Given the description of an element on the screen output the (x, y) to click on. 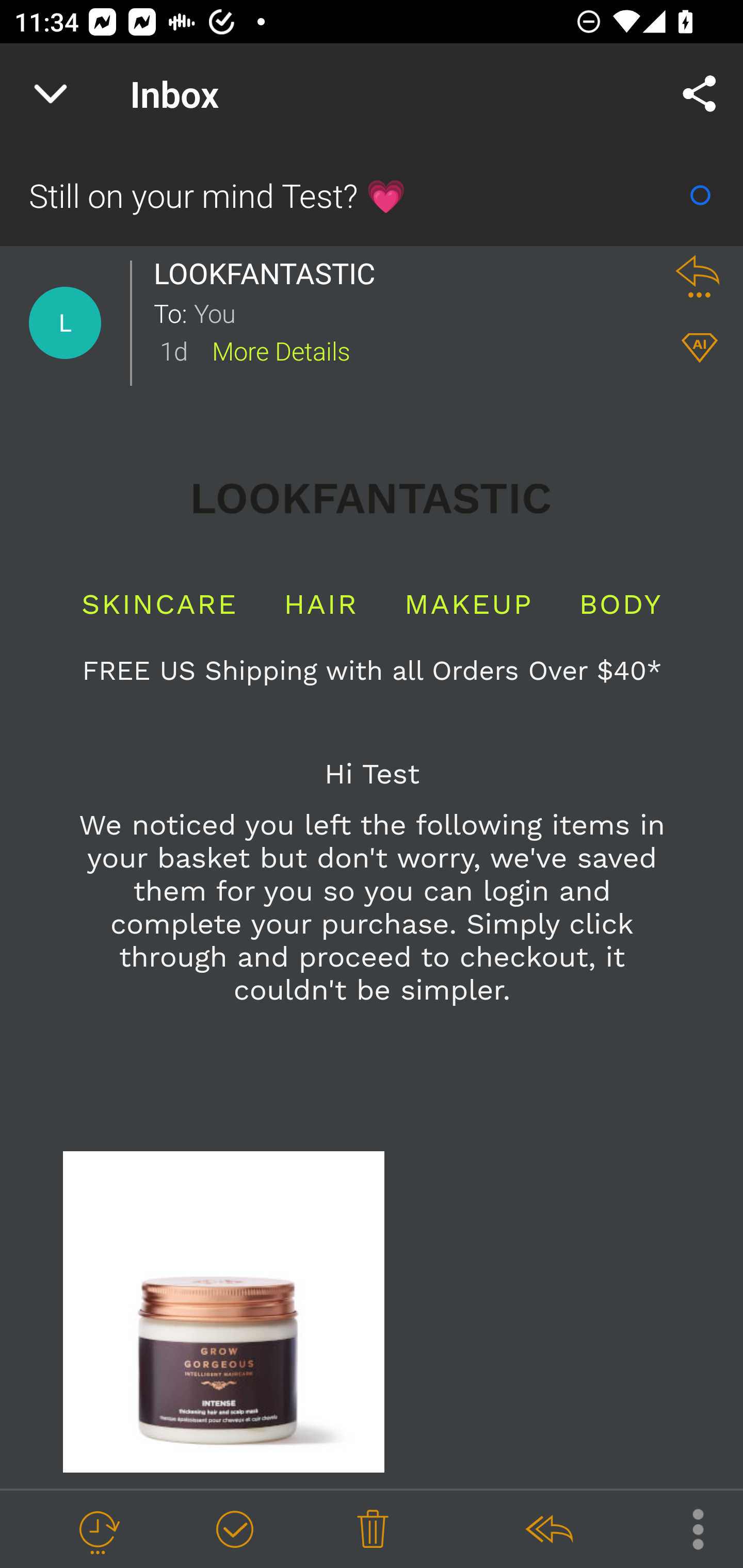
Navigate up (50, 93)
Share (699, 93)
Mark as Read (699, 194)
LOOKFANTASTIC (269, 273)
Contact Details (64, 322)
You (422, 311)
More Details (280, 349)
  SKINCARE   (159, 604)
  HAIR   (321, 604)
  MAKEUP   (468, 604)
  BODY   (620, 604)
Snooze (97, 1529)
Mark as Done (234, 1529)
Delete (372, 1529)
Reply All (548, 1529)
